Given the description of an element on the screen output the (x, y) to click on. 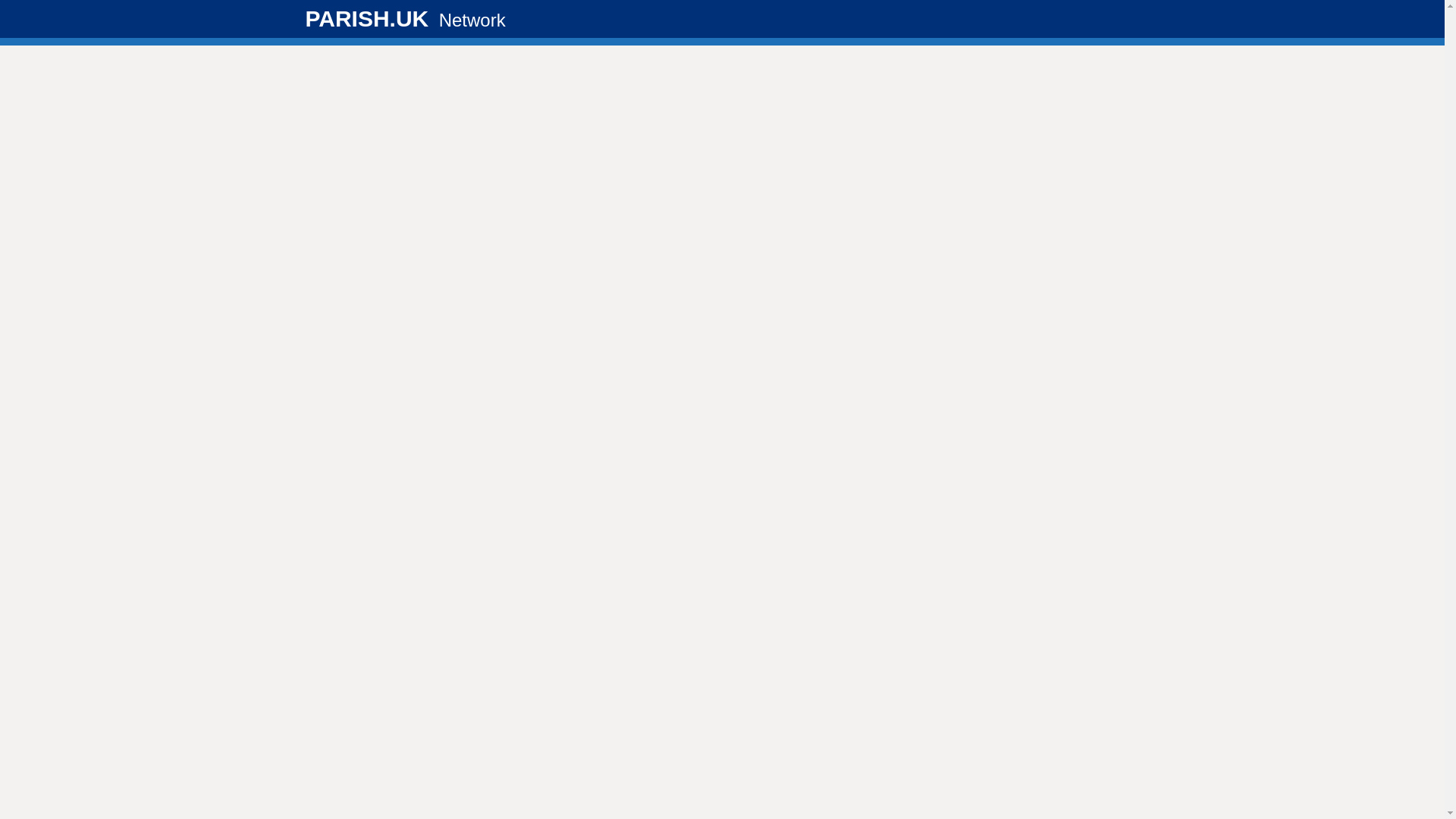
PARISH.UK Network (404, 18)
Skip to main content (11, 7)
